Given the description of an element on the screen output the (x, y) to click on. 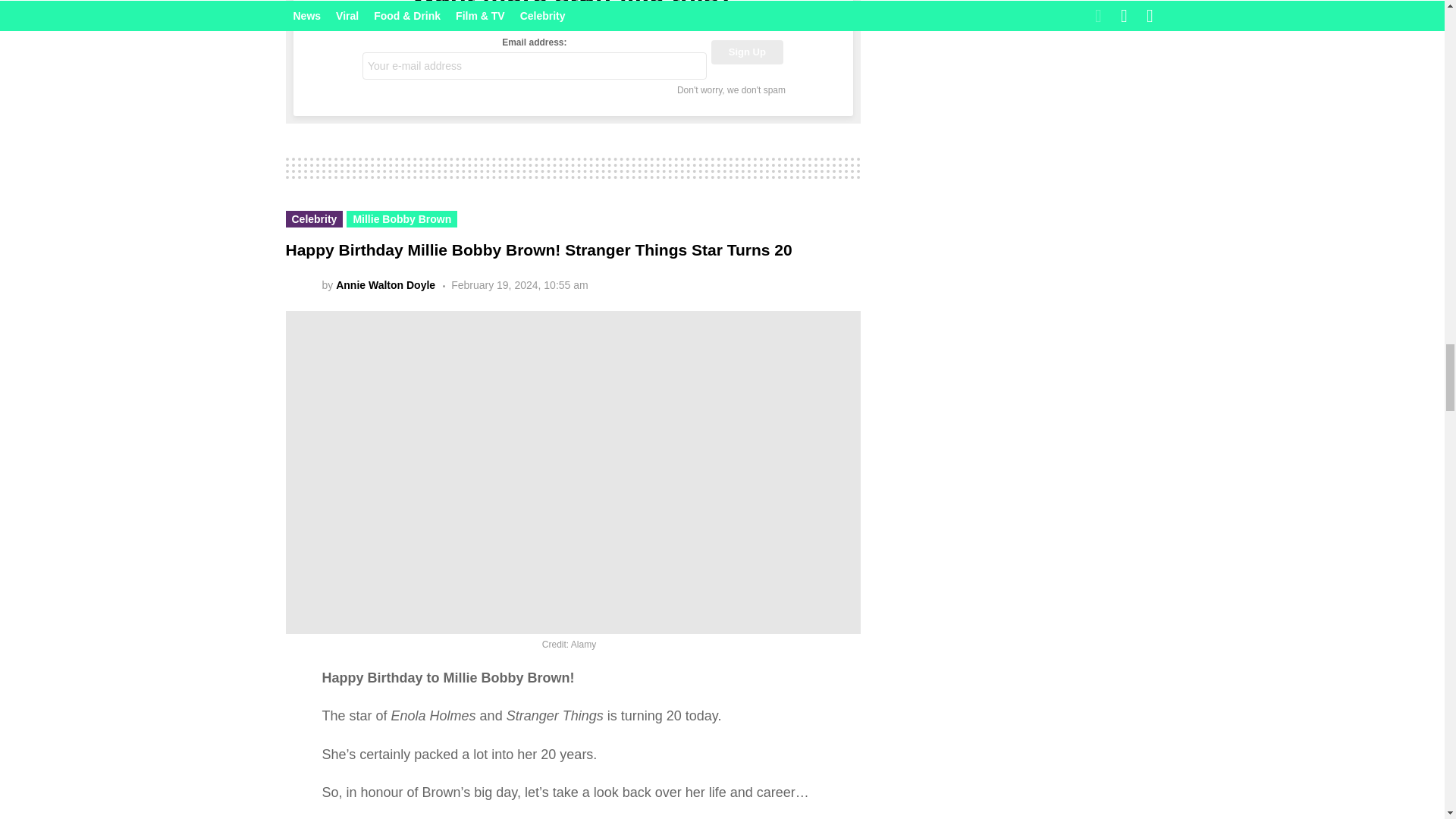
Sign up (747, 52)
